Given the description of an element on the screen output the (x, y) to click on. 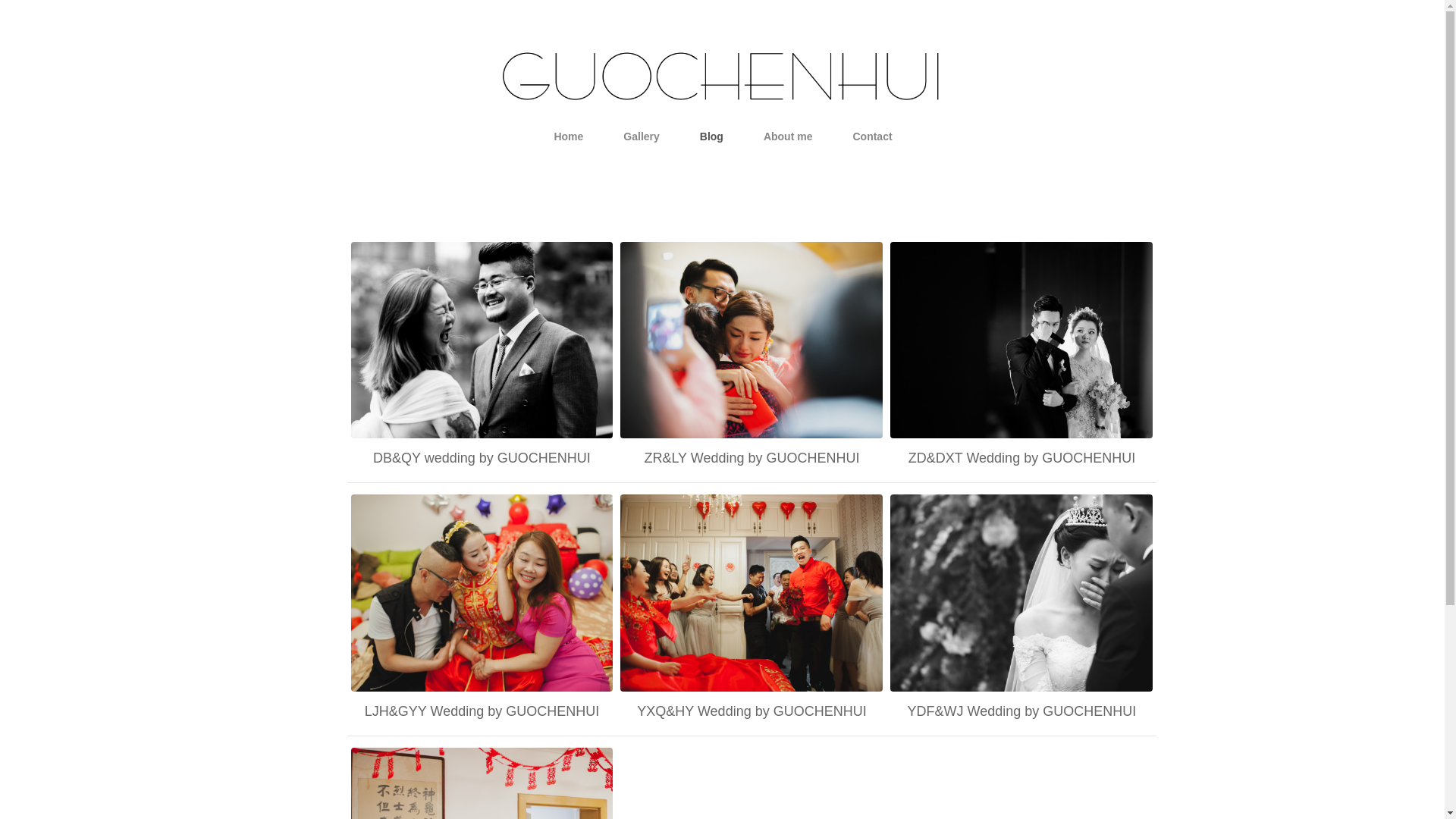
Blog Element type: text (711, 136)
Blog Element type: text (379, 219)
ZR&LY Wedding by GUOCHENHUI Element type: hover (751, 339)
DB&QY wedding by GUOCHENHUI Element type: hover (481, 339)
Gallery Element type: text (640, 136)
About me Element type: text (787, 136)
DB&QY wedding by GUOCHENHUI Element type: text (481, 457)
ZD&DXT Wedding by GUOCHENHUI Element type: hover (1021, 339)
YDF&WJ Wedding by GUOCHENHUI Element type: hover (1021, 592)
Home Element type: text (567, 136)
Contact Element type: text (871, 136)
LJH&GYY Wedding by GUOCHENHUI Element type: hover (481, 592)
ZD&DXT Wedding by GUOCHENHUI Element type: text (1021, 457)
YXQ&HY Wedding by GUOCHENHUI Element type: text (751, 711)
YDF&WJ Wedding by GUOCHENHUI Element type: text (1021, 711)
ZR&LY Wedding by GUOCHENHUI Element type: text (751, 457)
LJH&GYY Wedding by GUOCHENHUI Element type: text (481, 711)
  Element type: text (721, 93)
YXQ&HY Wedding by GUOCHENHUI Element type: hover (751, 592)
